Given the description of an element on the screen output the (x, y) to click on. 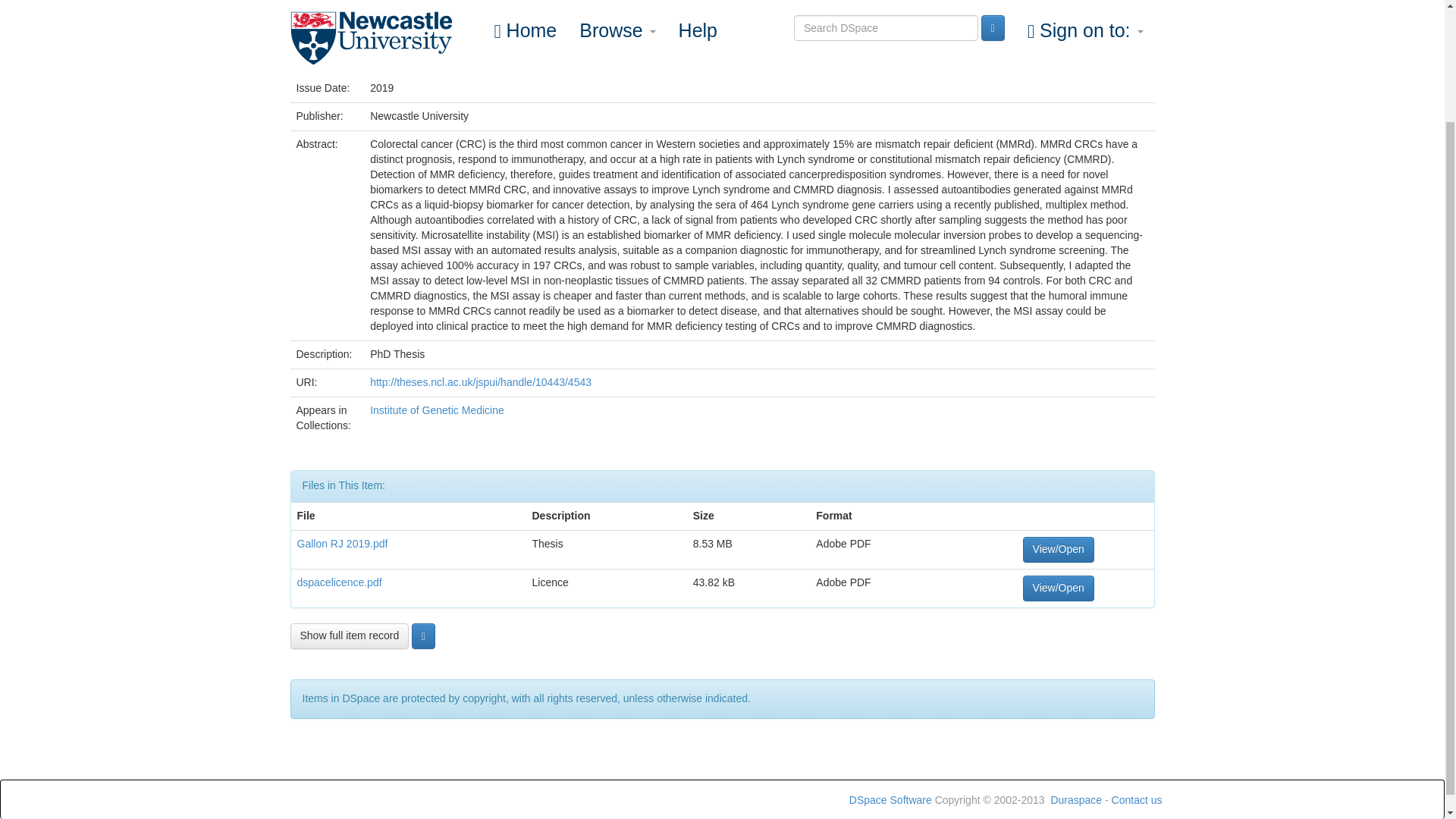
dspacelicence.pdf (339, 582)
Gallon RJ 2019.pdf (342, 543)
Gallon, Richard John (418, 60)
Institute of Genetic Medicine (436, 410)
DSpace Software (889, 799)
Duraspace (1075, 799)
Contact us (1136, 799)
Show full item record (349, 636)
